Given the description of an element on the screen output the (x, y) to click on. 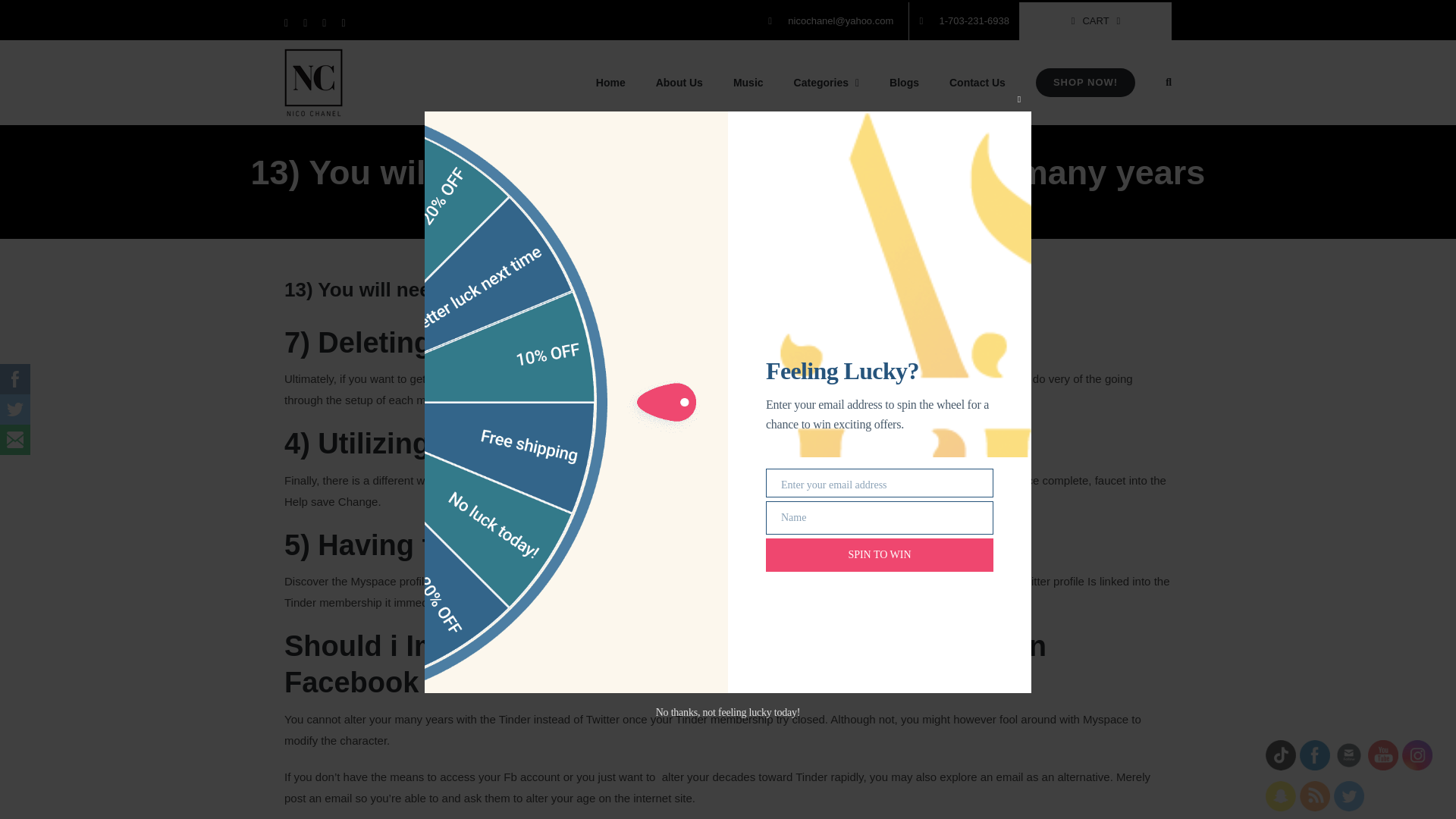
Home (537, 202)
CART (1096, 21)
1-703-231-6938 (963, 21)
SHOP NOW! (1085, 82)
transgenderdate review (611, 202)
